Given the description of an element on the screen output the (x, y) to click on. 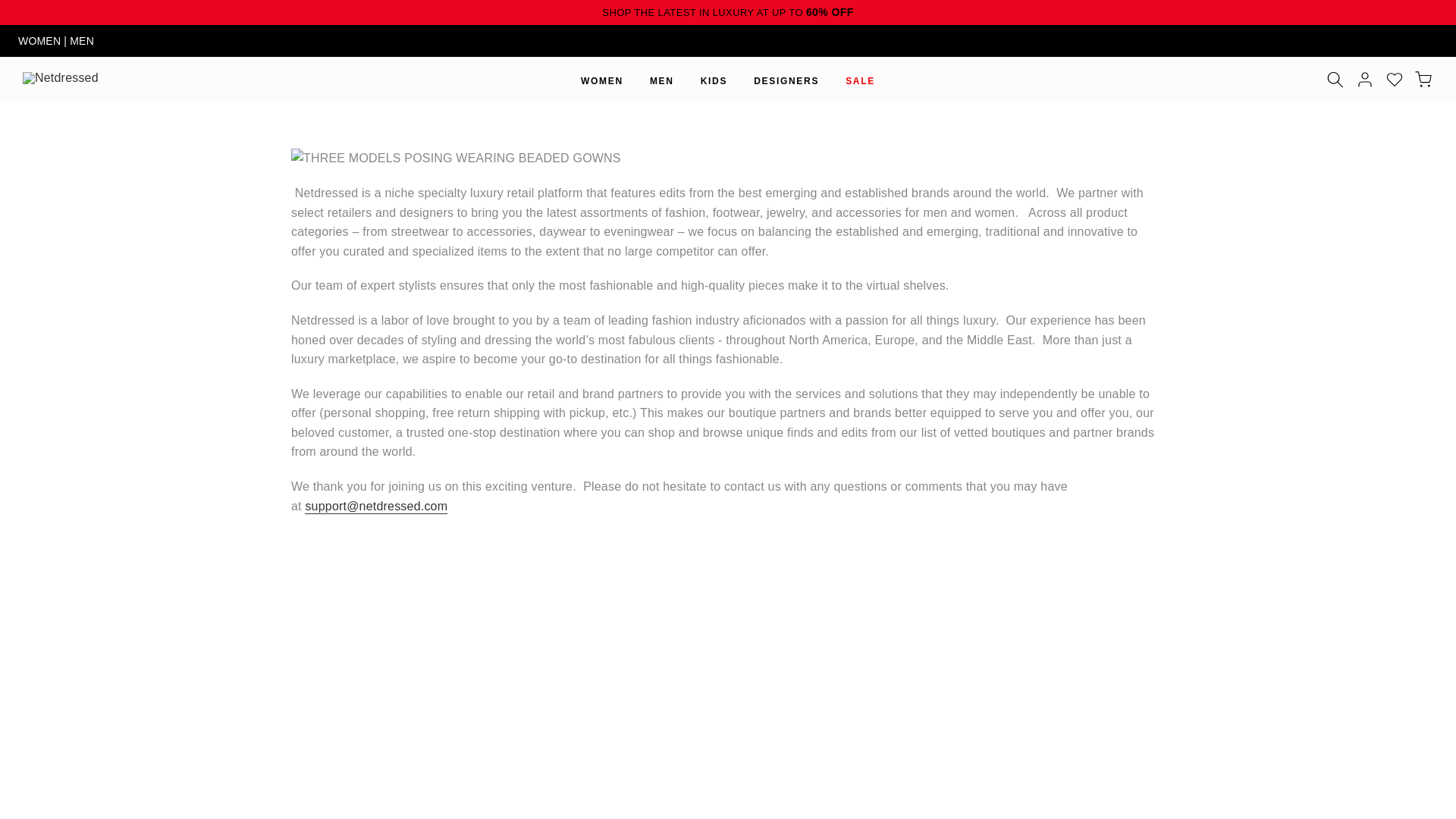
KIDS (713, 80)
MEN (81, 40)
DESIGNERS (786, 80)
WOMEN (602, 80)
SALE (860, 80)
Skip to content (10, 7)
WOMEN (40, 40)
MEN (661, 80)
